Given the description of an element on the screen output the (x, y) to click on. 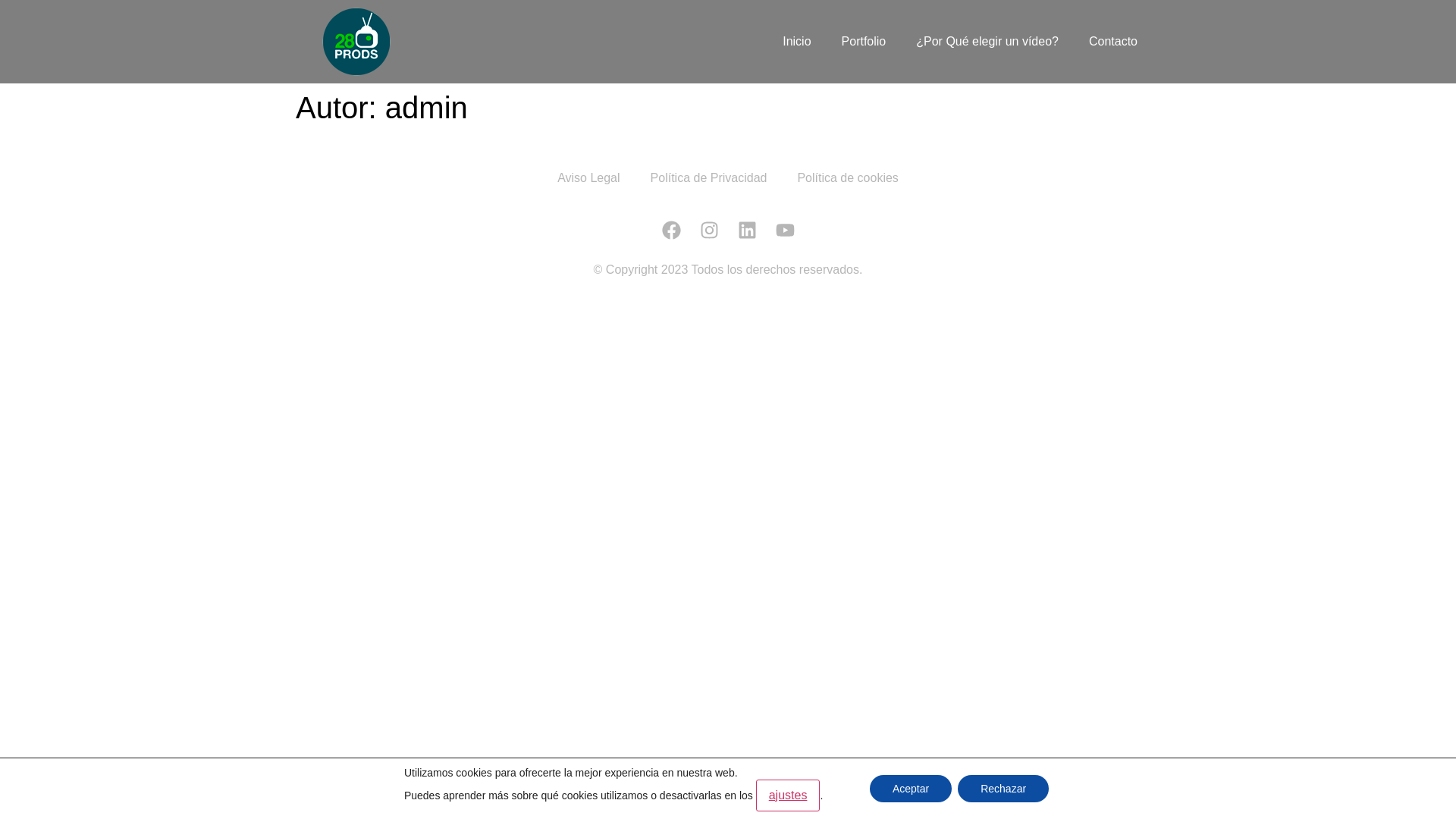
Portfolio Element type: text (863, 41)
Rechazar Element type: text (1002, 788)
Contacto Element type: text (1112, 41)
Aviso Legal Element type: text (588, 177)
Aceptar Element type: text (910, 788)
ajustes Element type: text (788, 795)
Inicio Element type: text (796, 41)
